Given the description of an element on the screen output the (x, y) to click on. 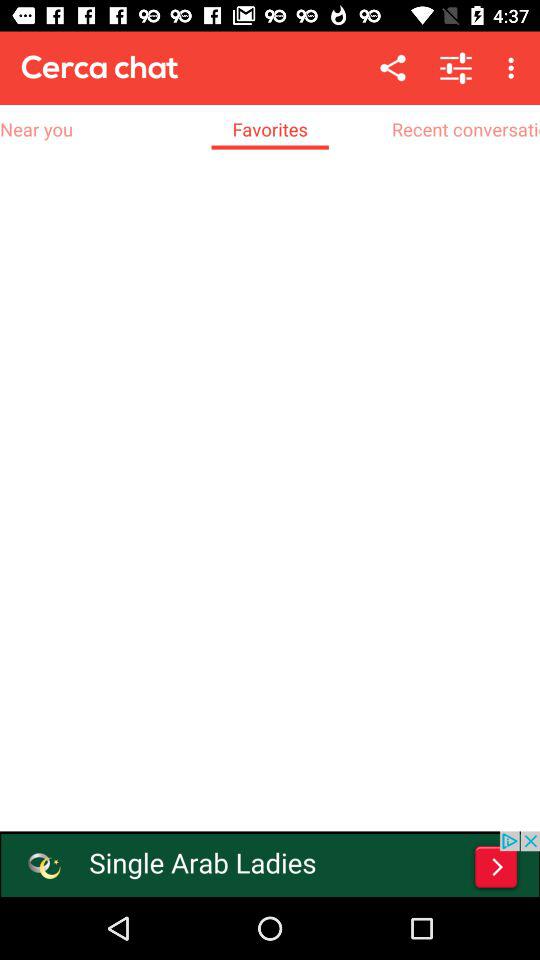
advertisement (270, 864)
